Given the description of an element on the screen output the (x, y) to click on. 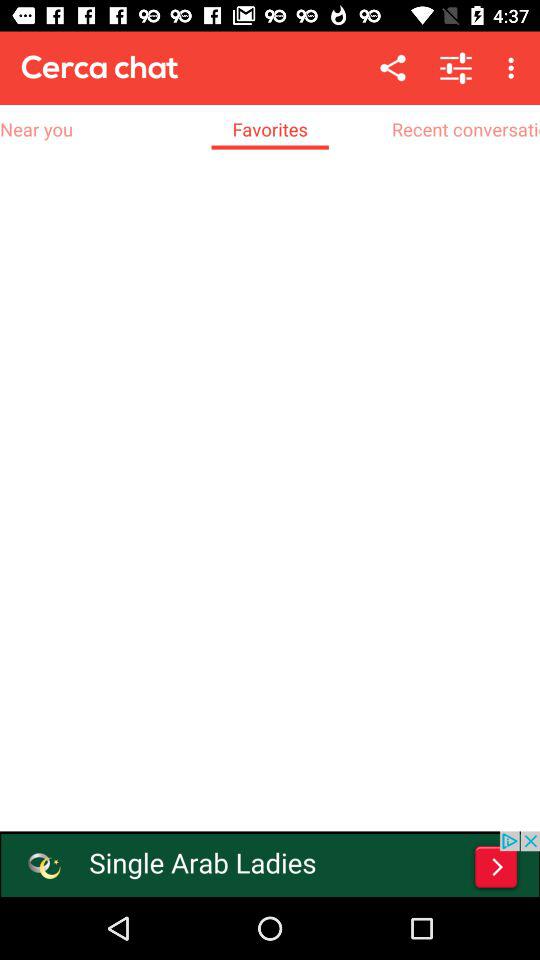
advertisement (270, 864)
